Given the description of an element on the screen output the (x, y) to click on. 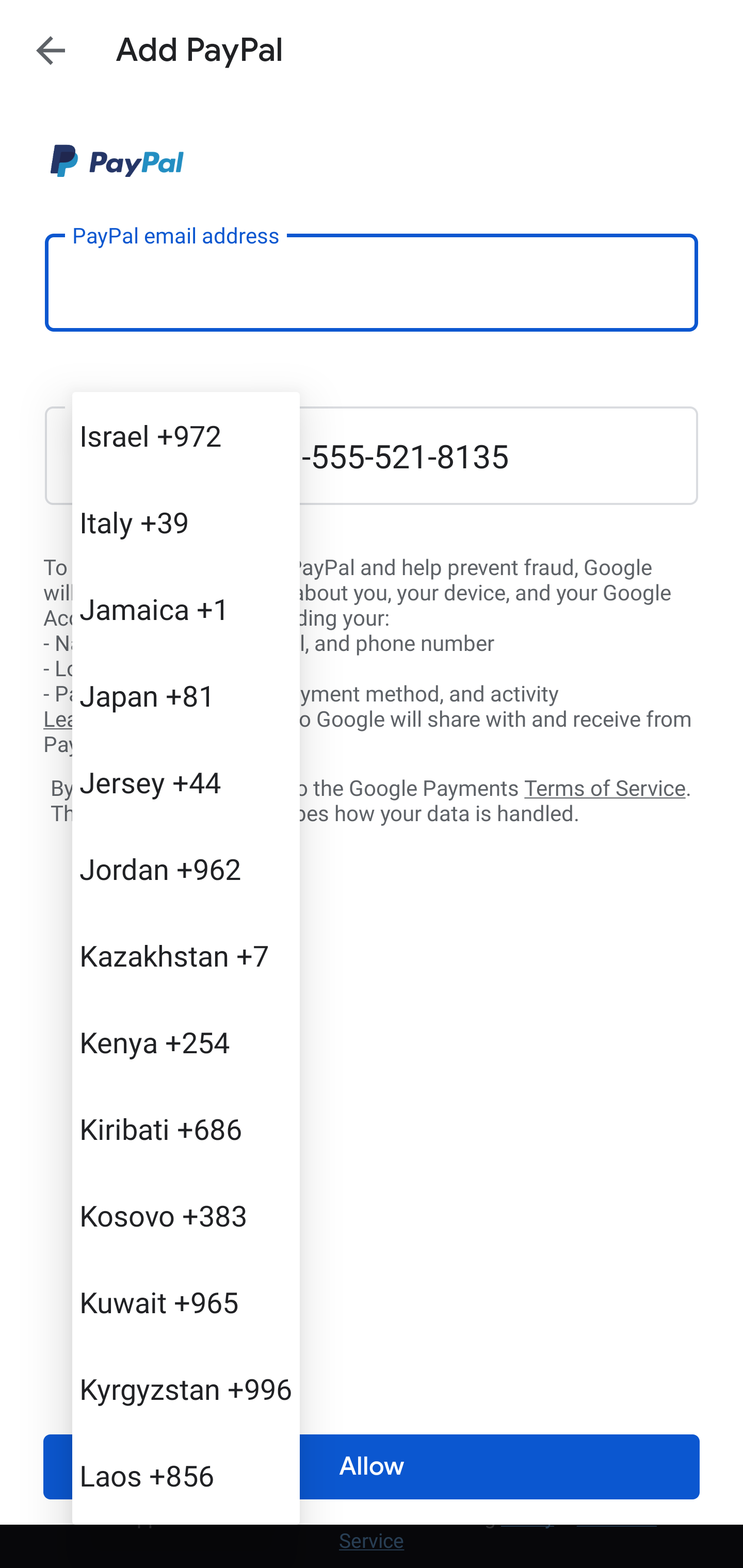
Israel +972 (185, 435)
Italy +39 (185, 522)
Jamaica +1 (185, 609)
Japan +81 (185, 695)
Jersey +44 (185, 781)
Jordan +962 (185, 868)
Kazakhstan +7 (185, 955)
Kenya +254 (185, 1041)
Kiribati +686 (185, 1128)
Kosovo +383 (185, 1215)
Kuwait +965 (185, 1302)
Kyrgyzstan +996 (185, 1388)
Laos +856 (185, 1474)
